Given the description of an element on the screen output the (x, y) to click on. 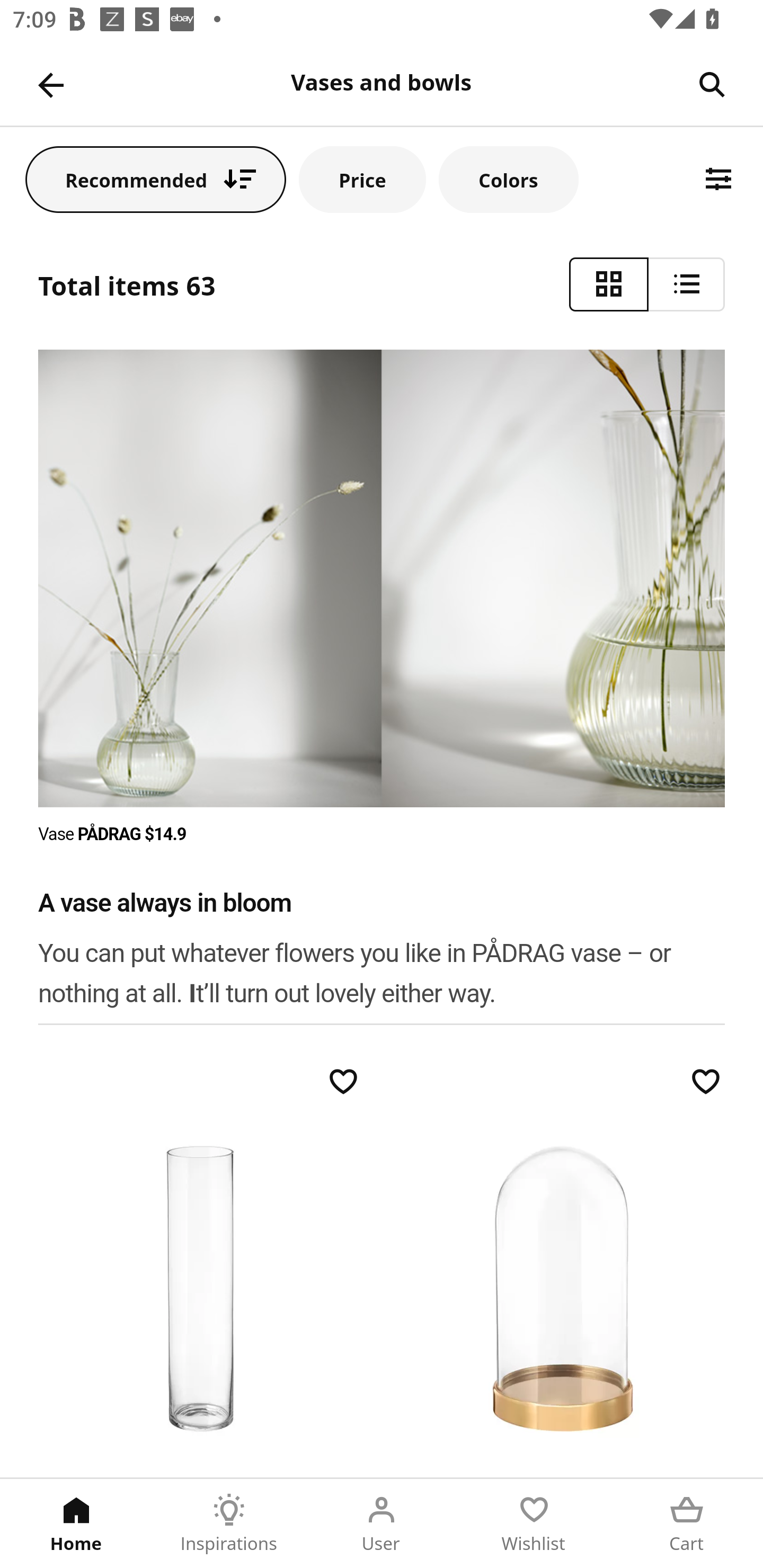
Recommended (155, 179)
Price (362, 179)
Colors (508, 179)
Vase PÅDRAG $14.9 (112, 834)
Home
Tab 1 of 5 (76, 1522)
Inspirations
Tab 2 of 5 (228, 1522)
User
Tab 3 of 5 (381, 1522)
Wishlist
Tab 4 of 5 (533, 1522)
Cart
Tab 5 of 5 (686, 1522)
